Given the description of an element on the screen output the (x, y) to click on. 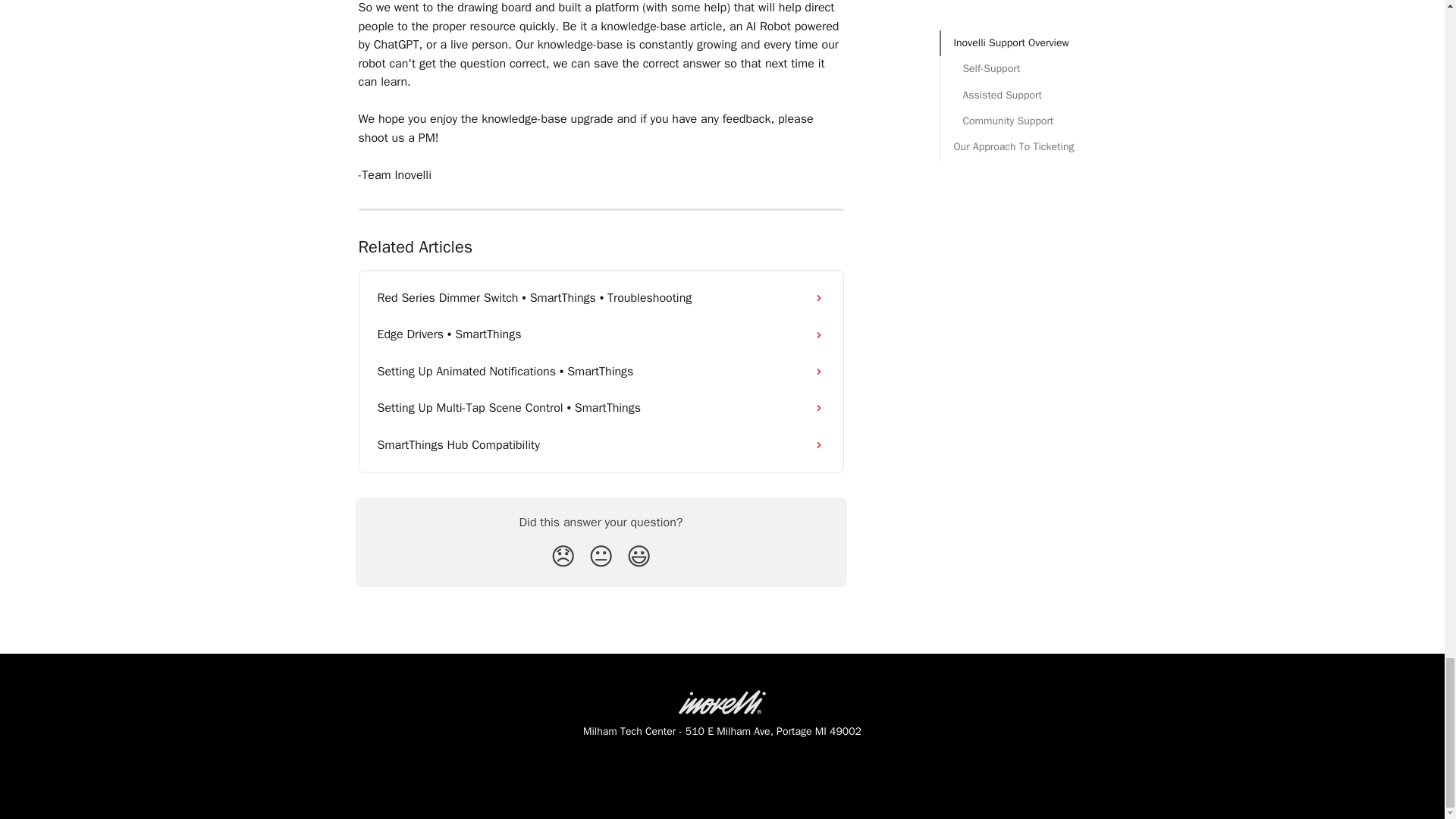
SmartThings Hub Compatibility (601, 444)
